Given the description of an element on the screen output the (x, y) to click on. 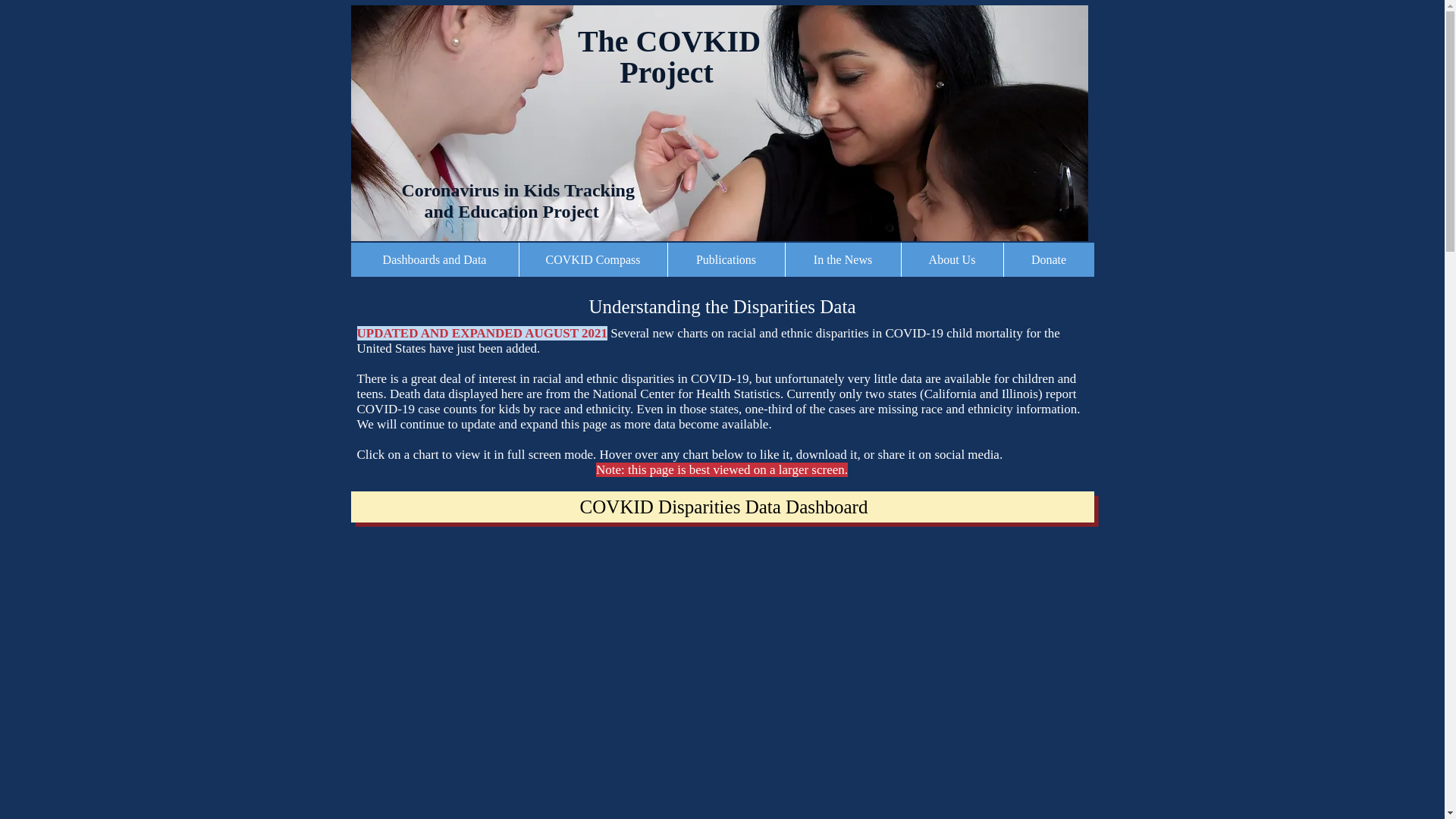
        Coronavirus in Kids Tracking (499, 189)
Publications (725, 259)
Donate (1048, 259)
In the News (841, 259)
About Us (952, 259)
             and Education Project (481, 211)
The COVKID (669, 41)
COVKID Compass (592, 259)
Project (666, 72)
